Given the description of an element on the screen output the (x, y) to click on. 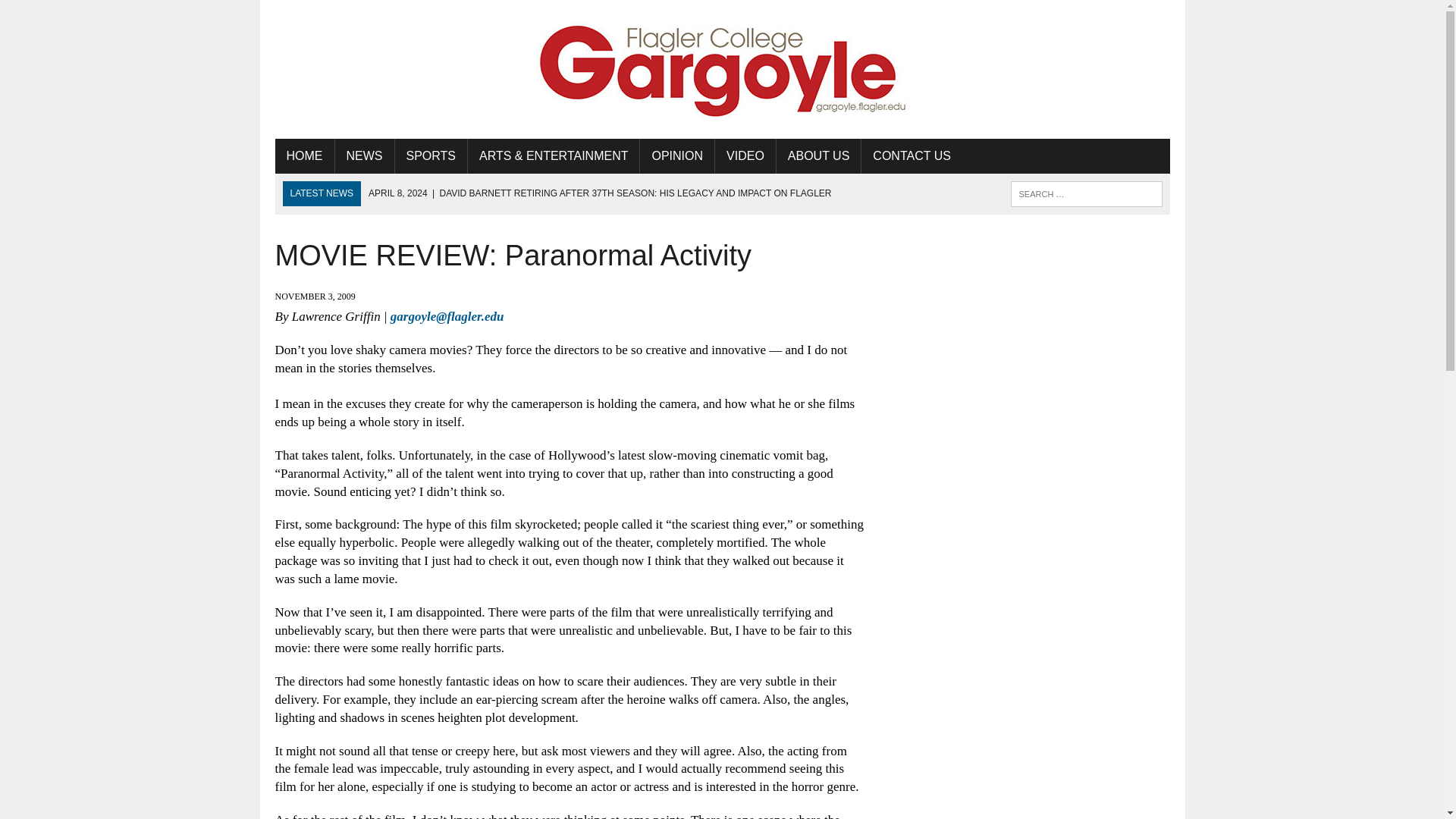
CONTACT US (911, 155)
SPORTS (430, 155)
Search (75, 14)
The Flagler College Gargoyle (722, 69)
HOME (304, 155)
ABOUT US (818, 155)
NEWS (364, 155)
VIDEO (745, 155)
OPINION (677, 155)
